Given the description of an element on the screen output the (x, y) to click on. 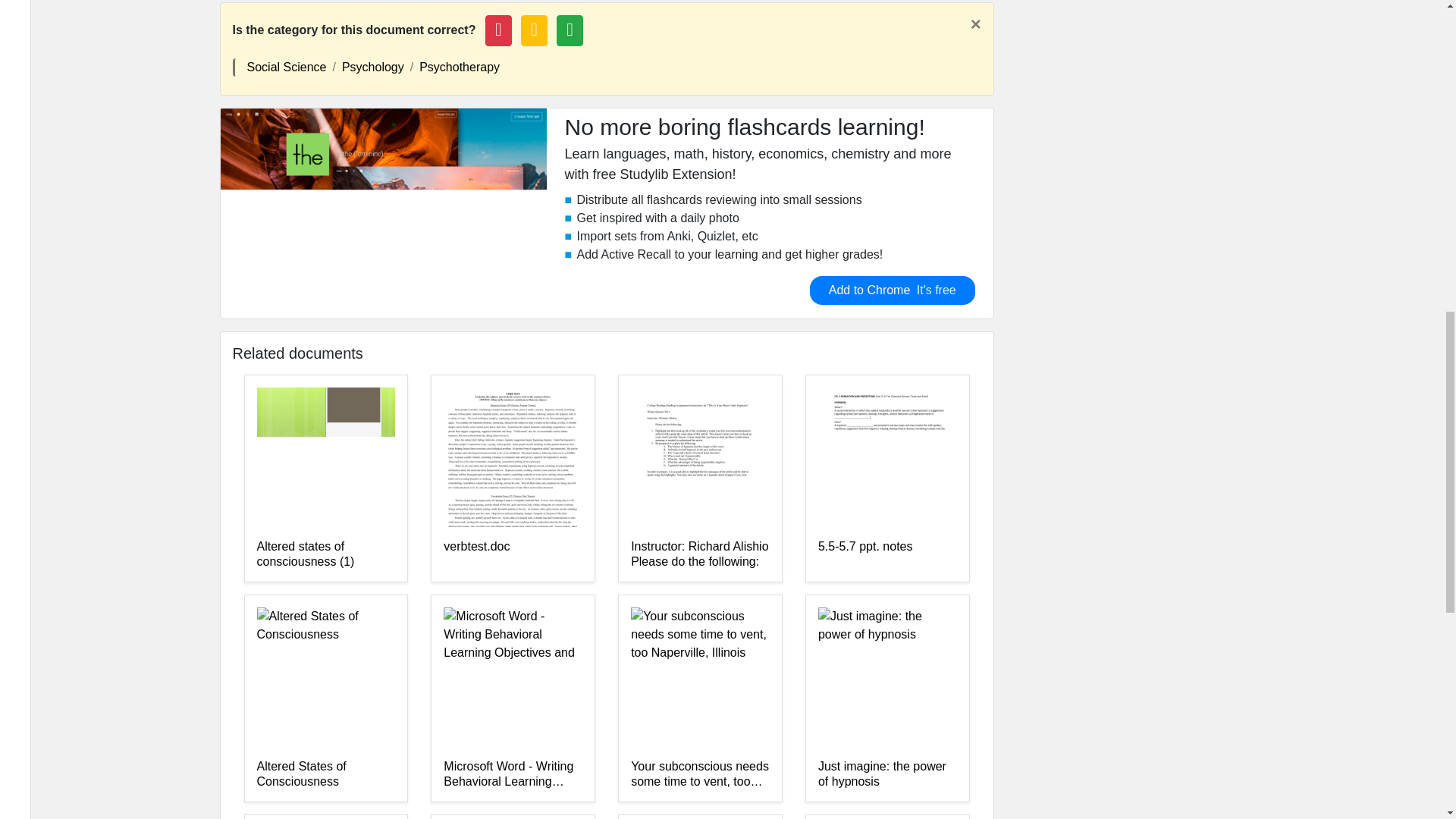
Instructor: Richard Alishio Please do the following: (700, 553)
Altered States of Consciousness (325, 774)
Add to Chrome It's free (892, 290)
5.5-5.7 ppt. notes (887, 553)
Instructor: Richard Alishio Please do the following: (700, 553)
verbtest.doc (513, 553)
verbtest.doc (513, 553)
Just imagine: the power of hypnosis (887, 774)
Psychotherapy (459, 66)
